Given the description of an element on the screen output the (x, y) to click on. 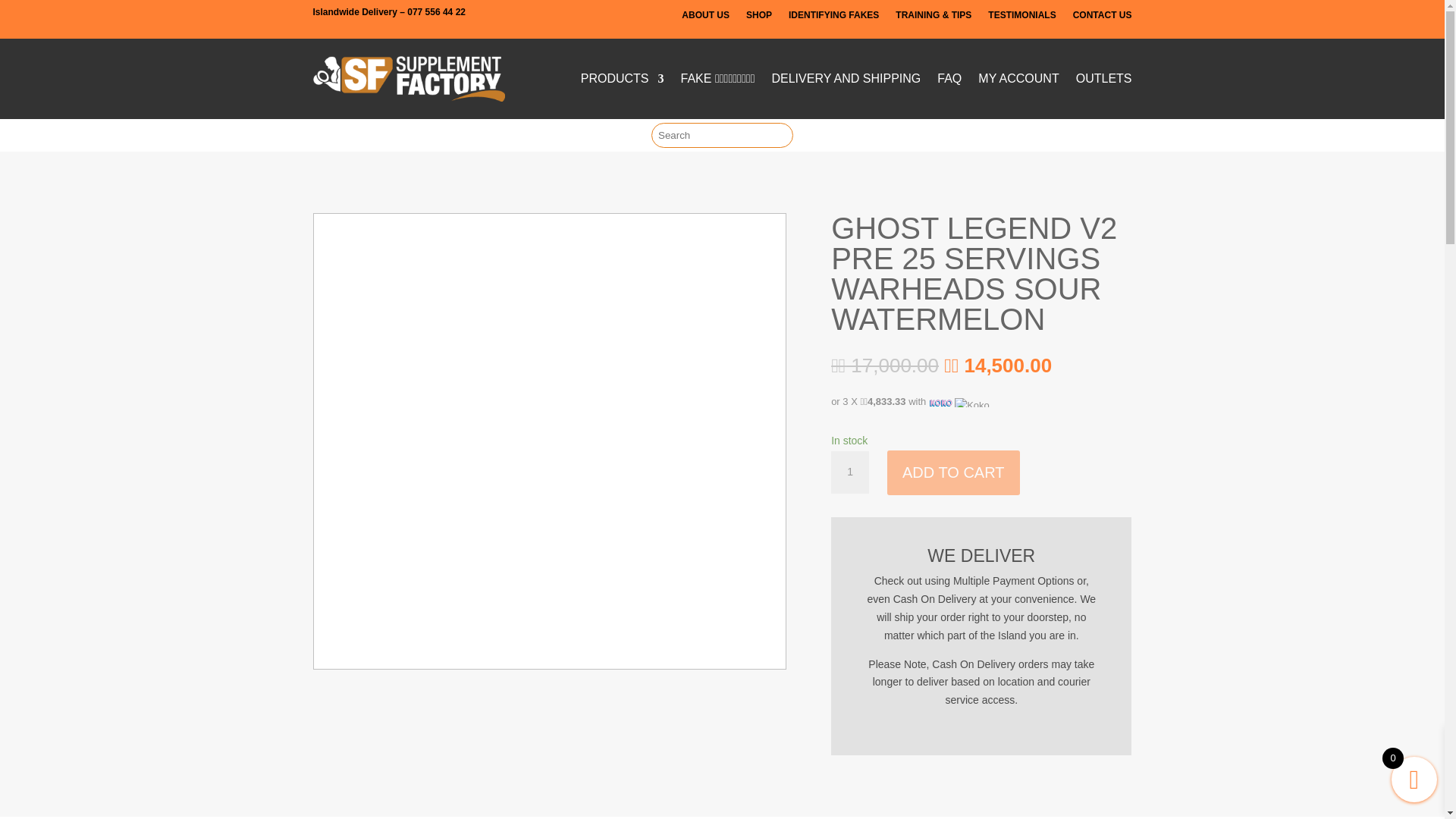
IDENTIFYING FAKES (834, 17)
1 (850, 472)
ABOUT US (705, 17)
CONTACT US (1102, 17)
077 556 44 22 (436, 11)
SHOP (758, 17)
PRODUCTS (621, 78)
TESTIMONIALS (1021, 17)
